Given the description of an element on the screen output the (x, y) to click on. 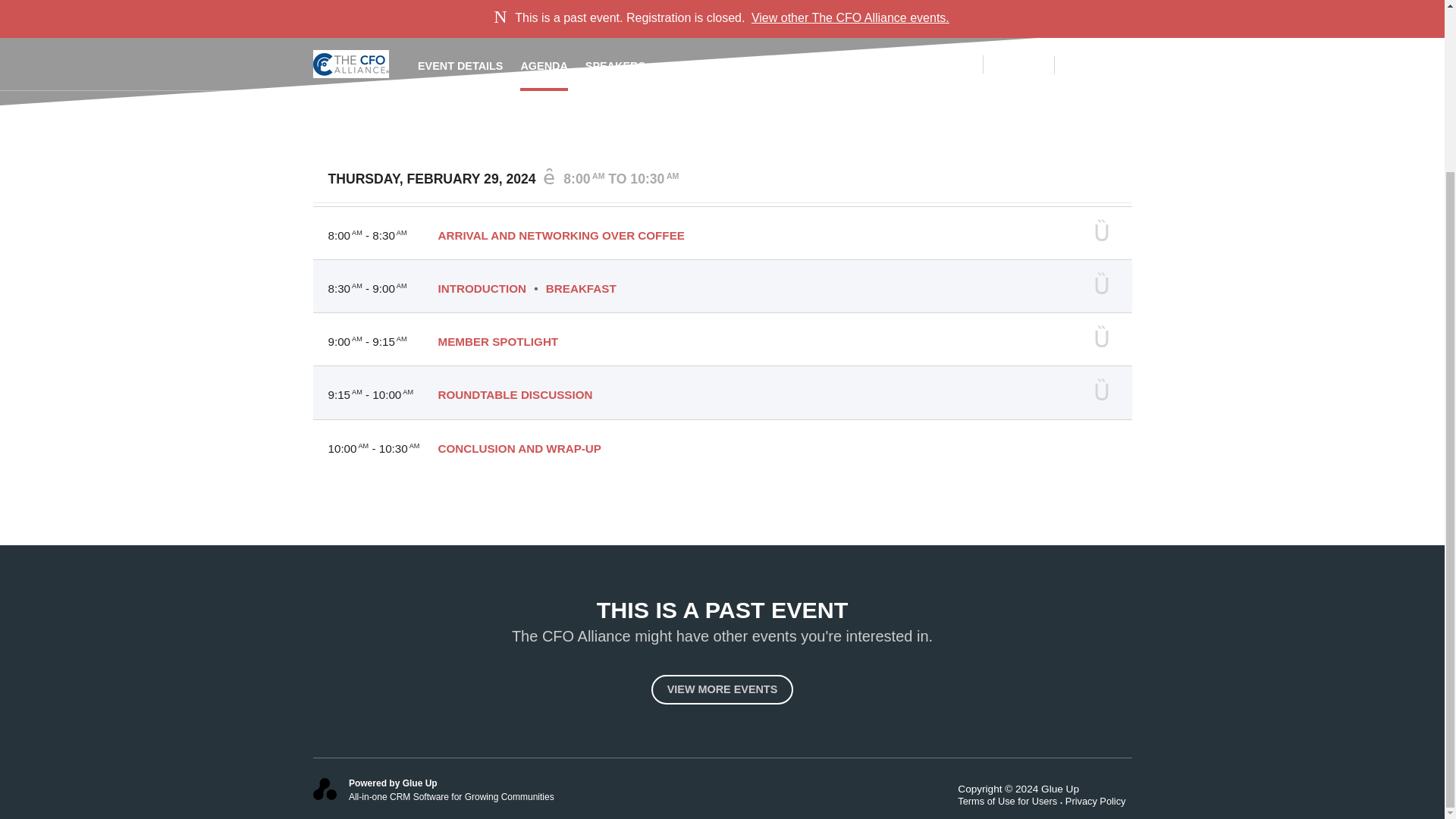
Privacy Policy (1098, 800)
Terms of Use for Users (1011, 800)
VIEW MORE EVENTS (721, 689)
